Given the description of an element on the screen output the (x, y) to click on. 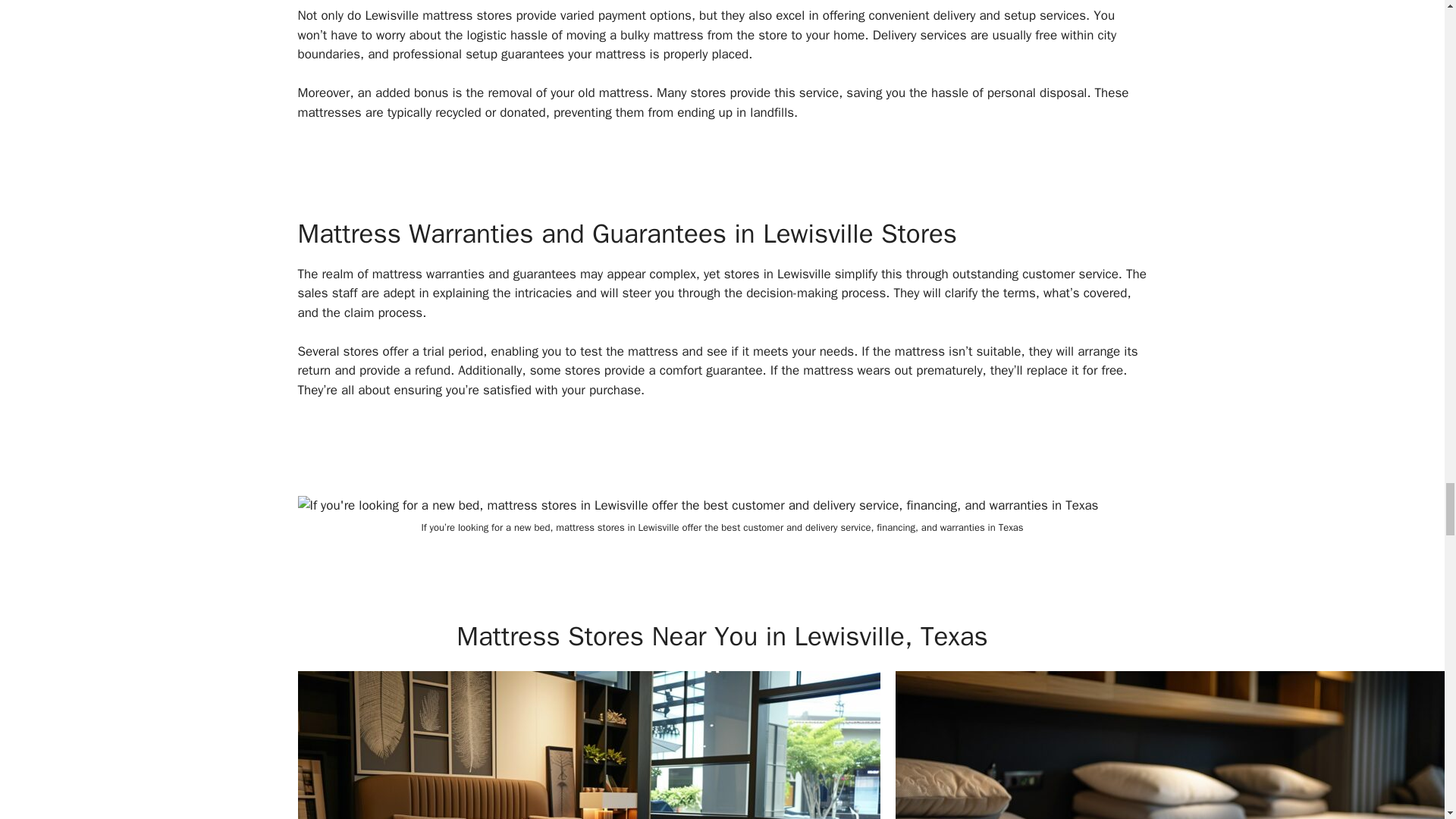
Mattress Stores in Flower Mound, TX (588, 744)
Mattress Stores in Coppell, TX (1175, 744)
